Given the description of an element on the screen output the (x, y) to click on. 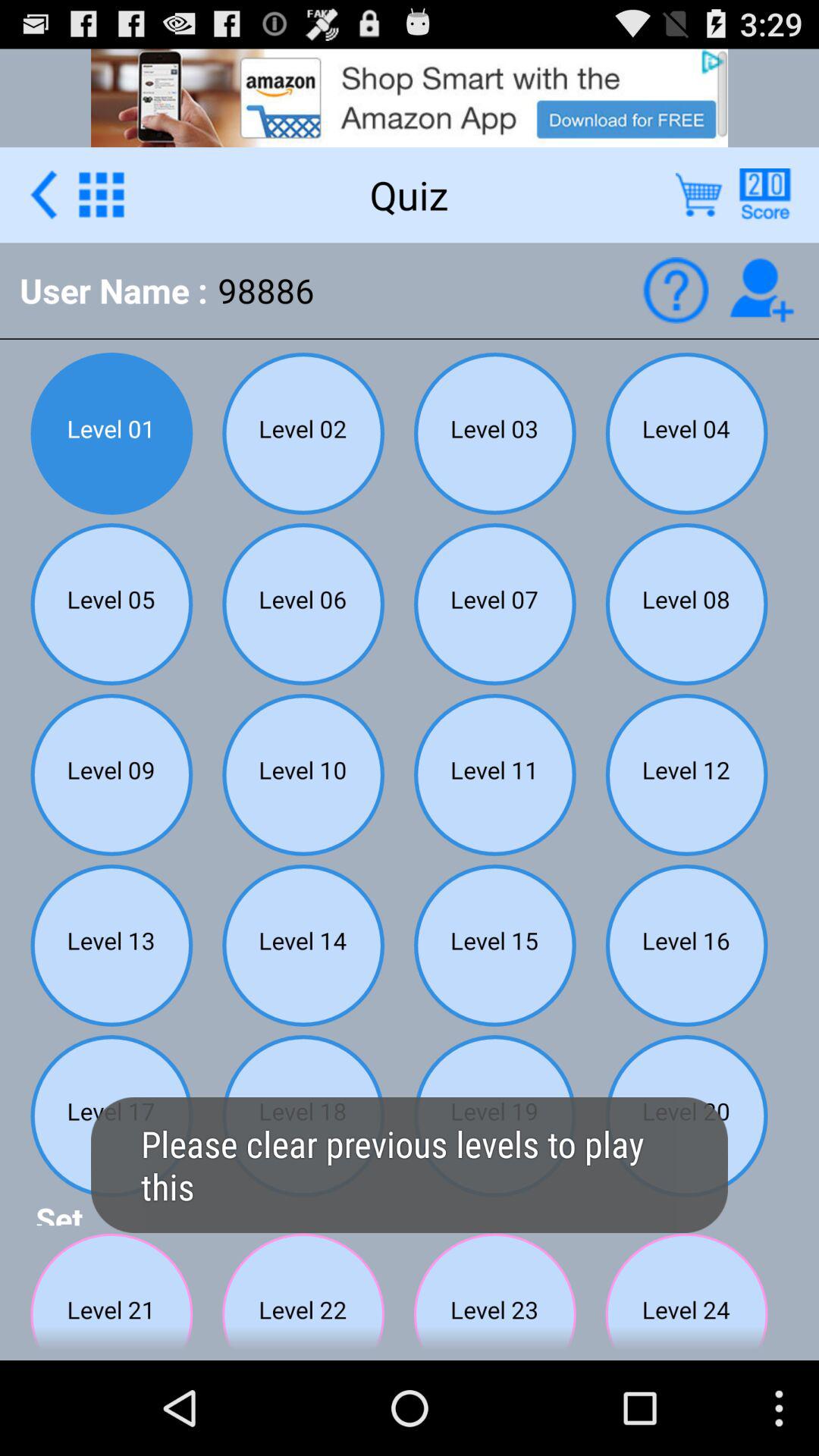
add a friend (761, 290)
